Given the description of an element on the screen output the (x, y) to click on. 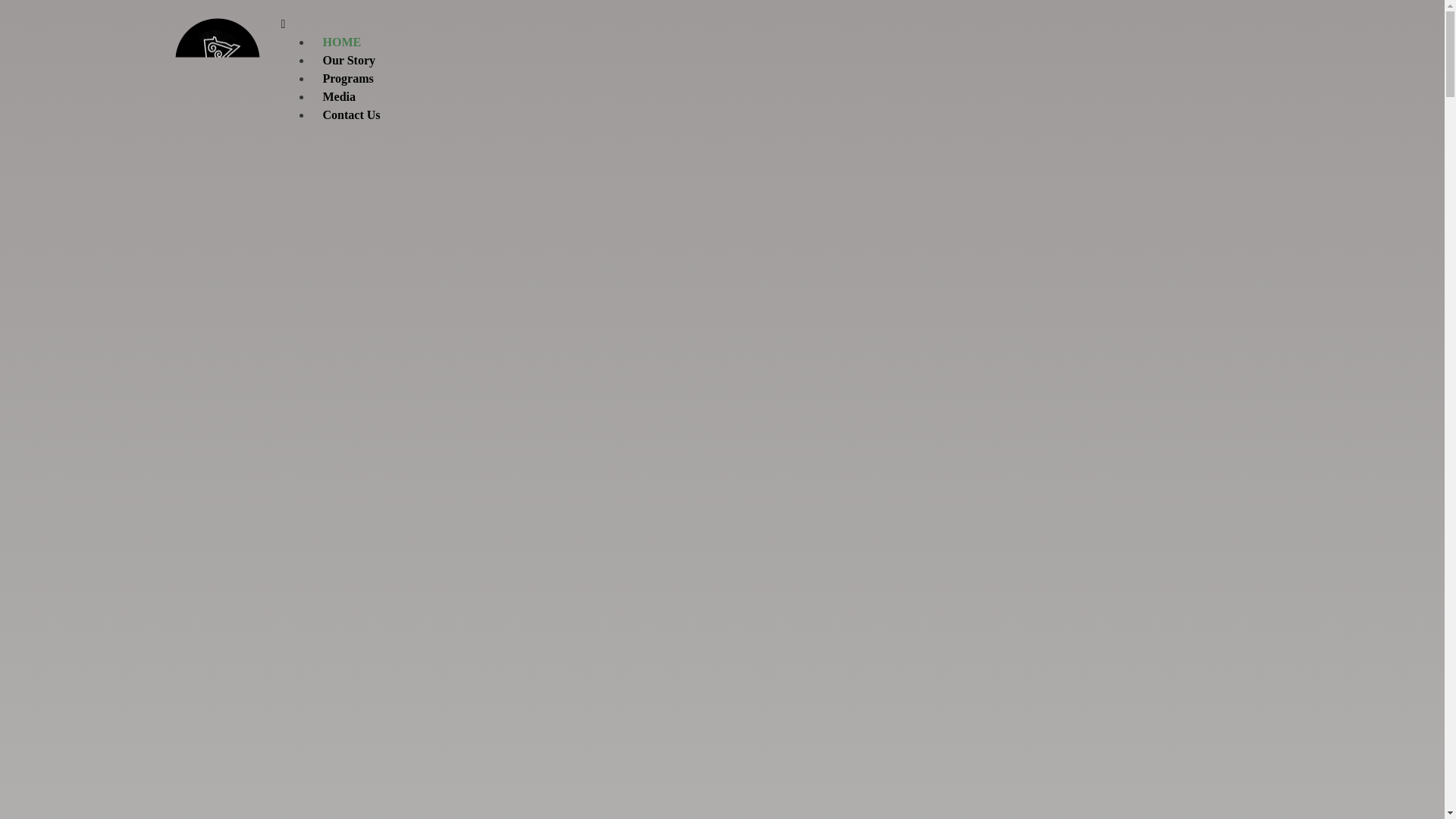
Our Story (348, 59)
Programs (347, 78)
Media (338, 96)
Contact Us (351, 114)
HOME (341, 41)
